Given the description of an element on the screen output the (x, y) to click on. 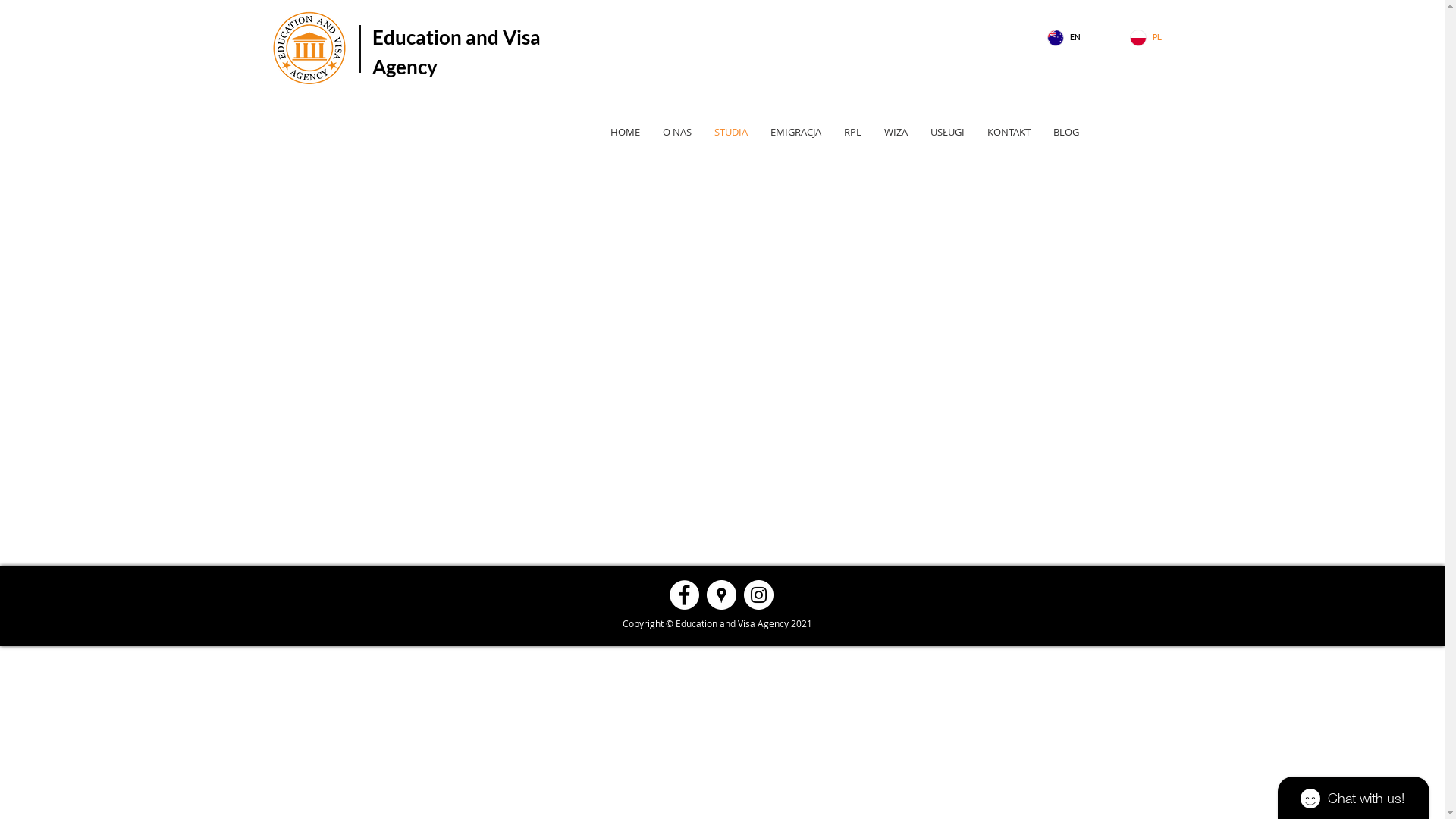
EN Element type: text (1076, 37)
RPL Element type: text (852, 131)
HOME Element type: text (625, 131)
KONTAKT Element type: text (1008, 131)
PL Element type: text (1157, 37)
O NAS Element type: text (676, 131)
EMIGRACJA Element type: text (795, 131)
WIZA Element type: text (895, 131)
Education and Visa  Element type: text (457, 37)
STUDIA Element type: text (730, 131)
BLOG Element type: text (1065, 131)
